Given the description of an element on the screen output the (x, y) to click on. 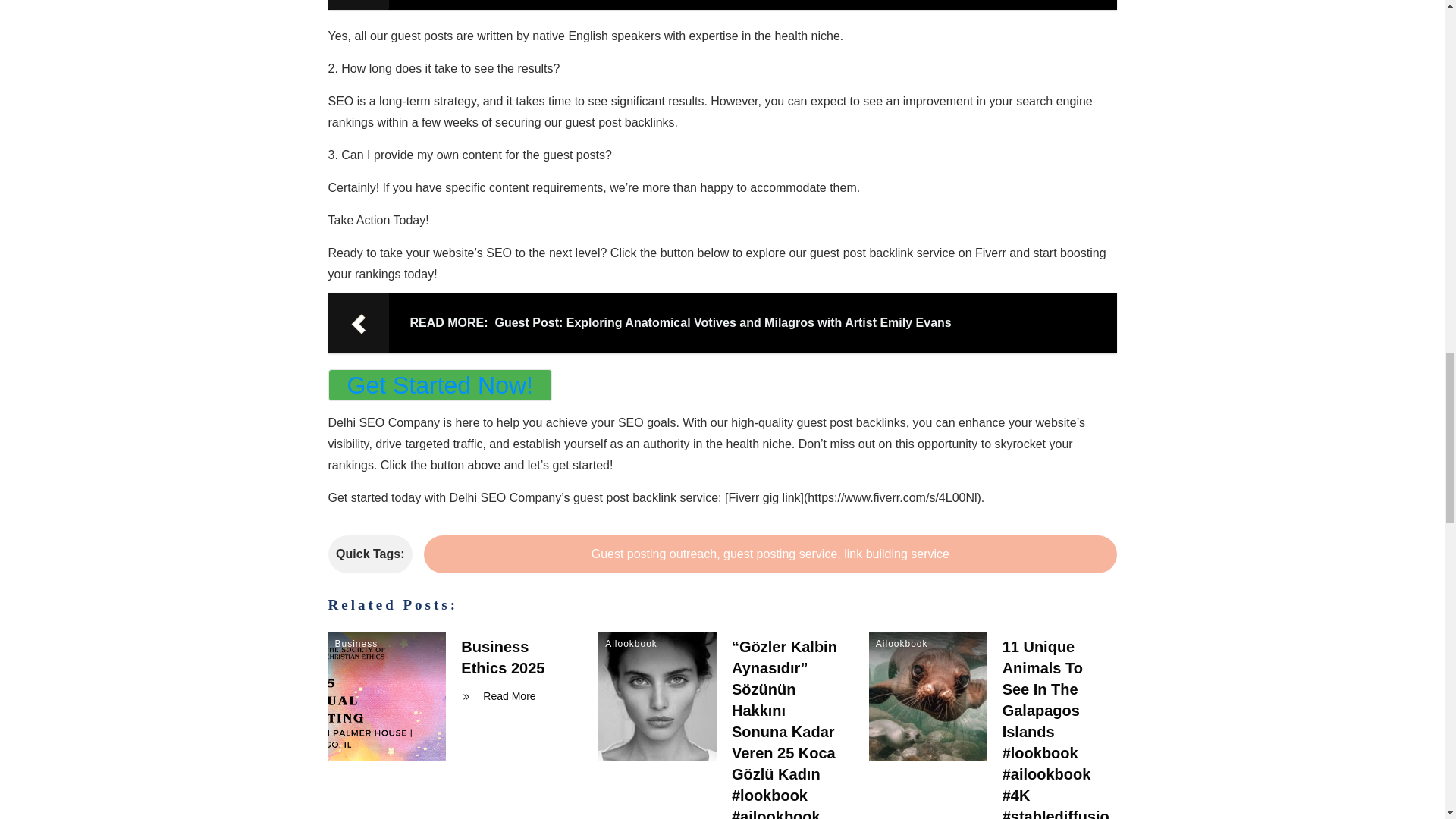
Read More (502, 696)
Business (356, 643)
Guest posting outreach (653, 553)
link building service (896, 553)
Business Ethics 2025 (502, 657)
Ailookbook (631, 643)
Guest posting outreach (653, 553)
guest posting service (780, 553)
Business (356, 643)
Ailookbook (902, 643)
link building service (896, 553)
Business Ethics 2025 (502, 657)
guest posting service (780, 553)
